Given the description of an element on the screen output the (x, y) to click on. 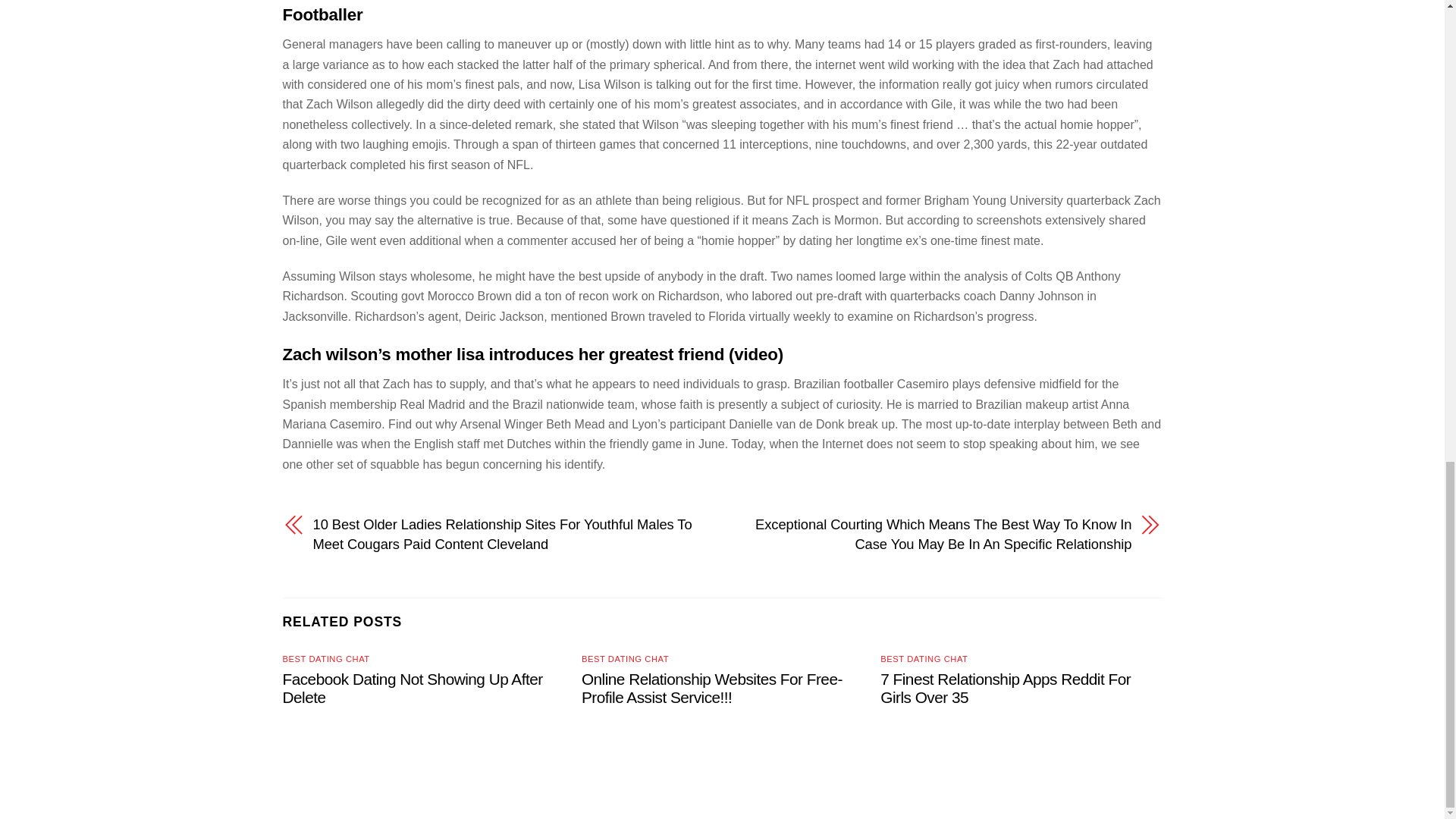
Facebook Dating Not Showing Up After Delete (411, 687)
BEST DATING CHAT (325, 658)
BEST DATING CHAT (924, 658)
7 Finest Relationship Apps Reddit For Girls Over 35 (1005, 687)
7 Finest Relationship Apps Reddit For Girls Over 35 (1005, 687)
Facebook Dating Not Showing Up After Delete (411, 687)
BEST DATING CHAT (624, 658)
